Given the description of an element on the screen output the (x, y) to click on. 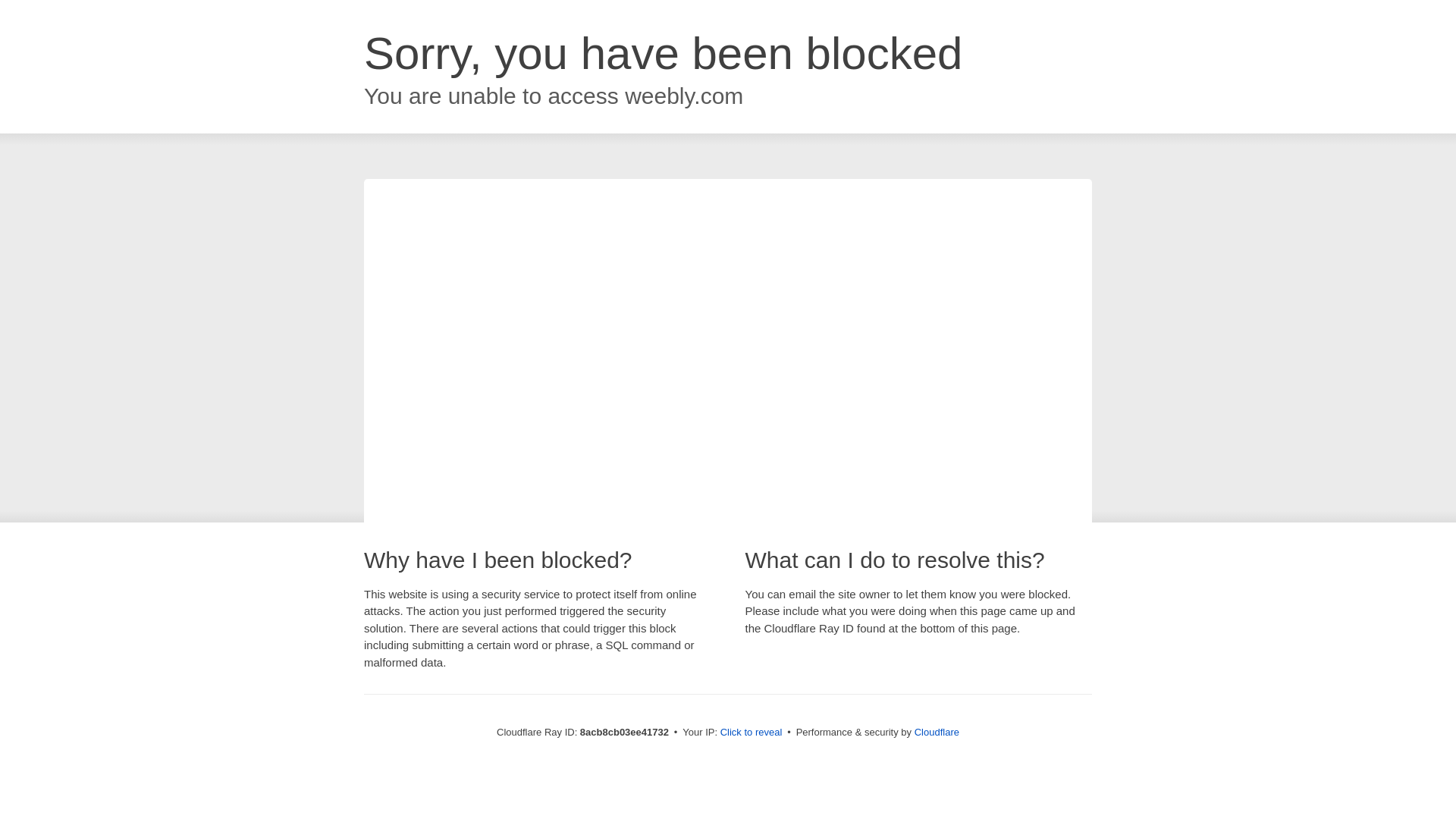
Cloudflare (936, 731)
Click to reveal (751, 732)
